Given the description of an element on the screen output the (x, y) to click on. 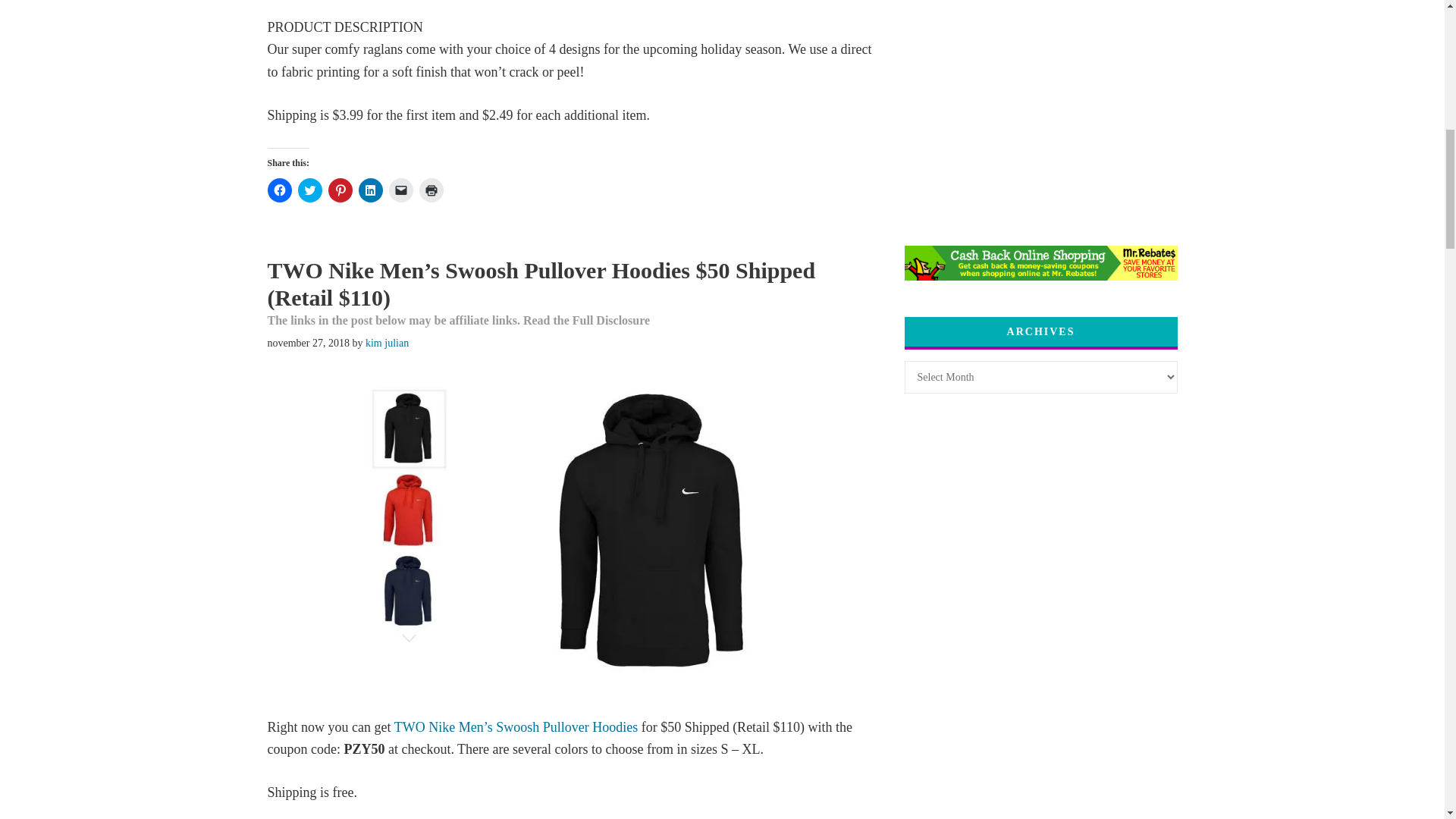
Click to print (430, 190)
Click to share on LinkedIn (369, 190)
Click to share on Facebook (278, 190)
Click to email a link to a friend (400, 190)
Click to share on Twitter (309, 190)
Click to share on Pinterest (339, 190)
